Given the description of an element on the screen output the (x, y) to click on. 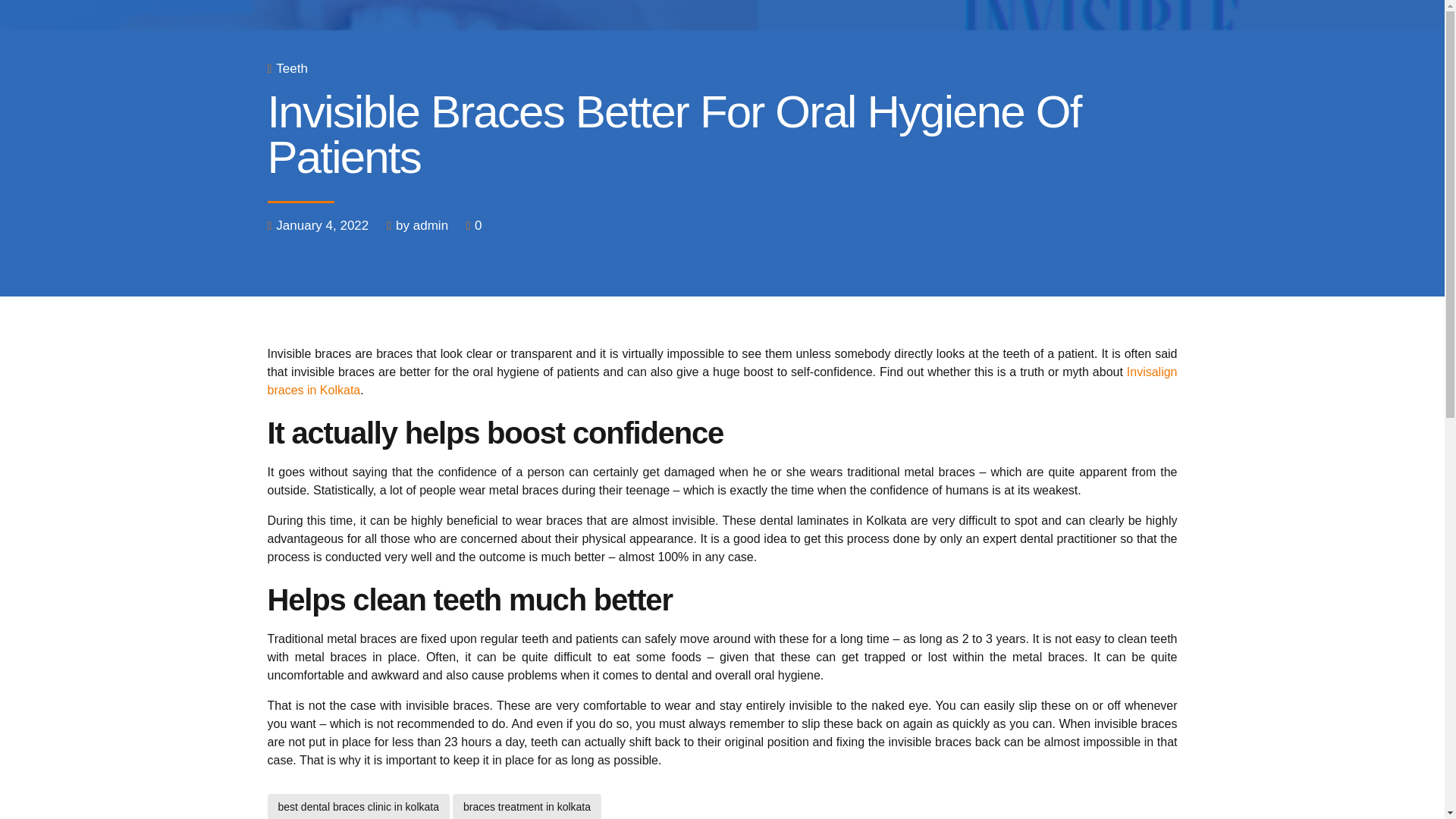
braces treatment in kolkata (526, 806)
best dental braces clinic in kolkata (357, 806)
Invisalign braces in Kolkata (721, 380)
by admin (422, 225)
Invisalign Clear Aligners (721, 380)
Teeth (291, 68)
